Given the description of an element on the screen output the (x, y) to click on. 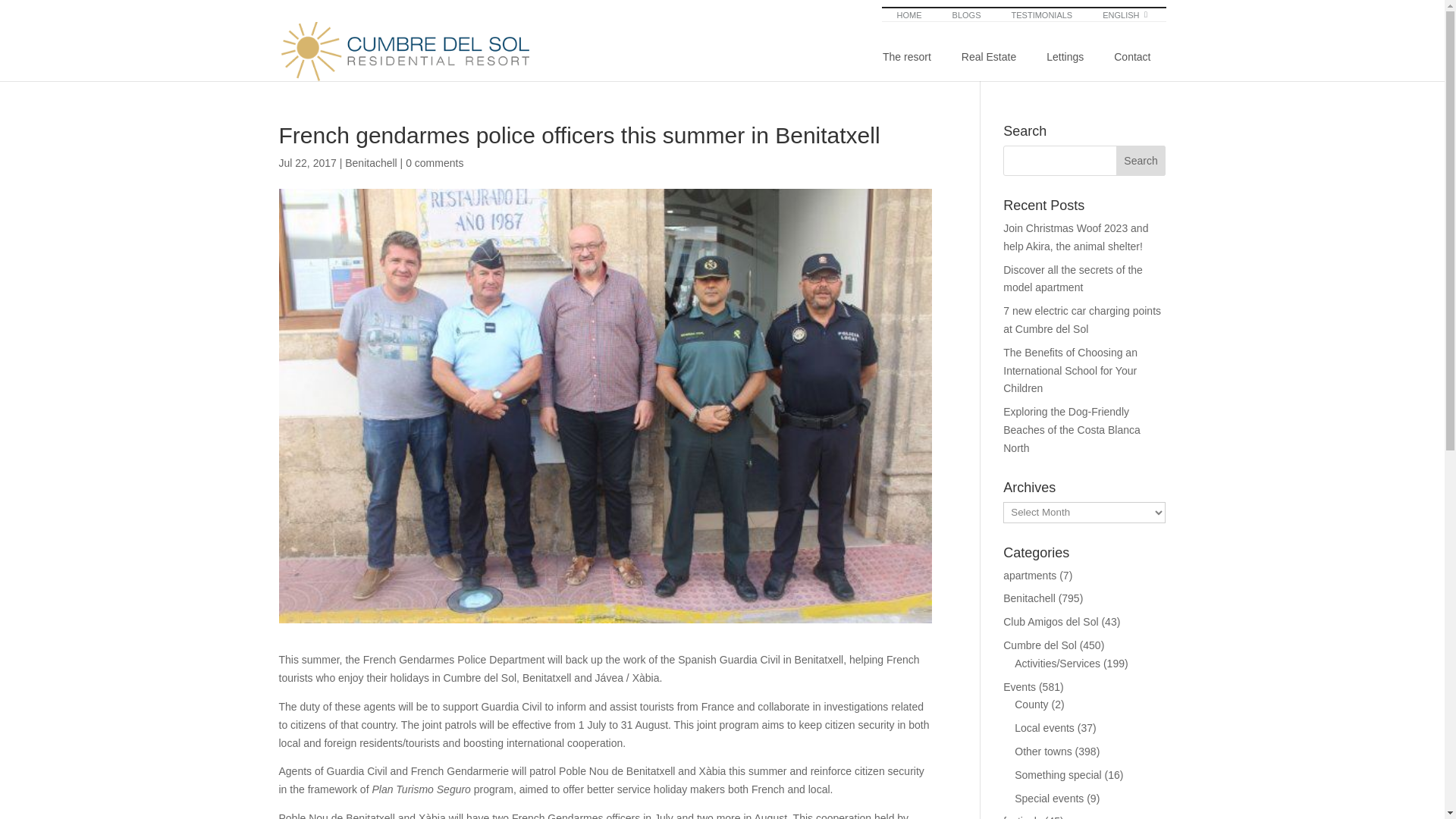
Events (1019, 686)
Club Amigos del Sol (1050, 621)
Search (1141, 160)
Contact (1024, 14)
Other towns (1132, 58)
Something special (1042, 751)
7 new electric car charging points at Cumbre del Sol (1057, 775)
Search (1081, 319)
TESTIMONIALS (1141, 160)
Cumbre del Sol (1016, 58)
Join Christmas Woof 2023 and help Akira, the animal shelter! (1042, 14)
County (1040, 645)
